Given the description of an element on the screen output the (x, y) to click on. 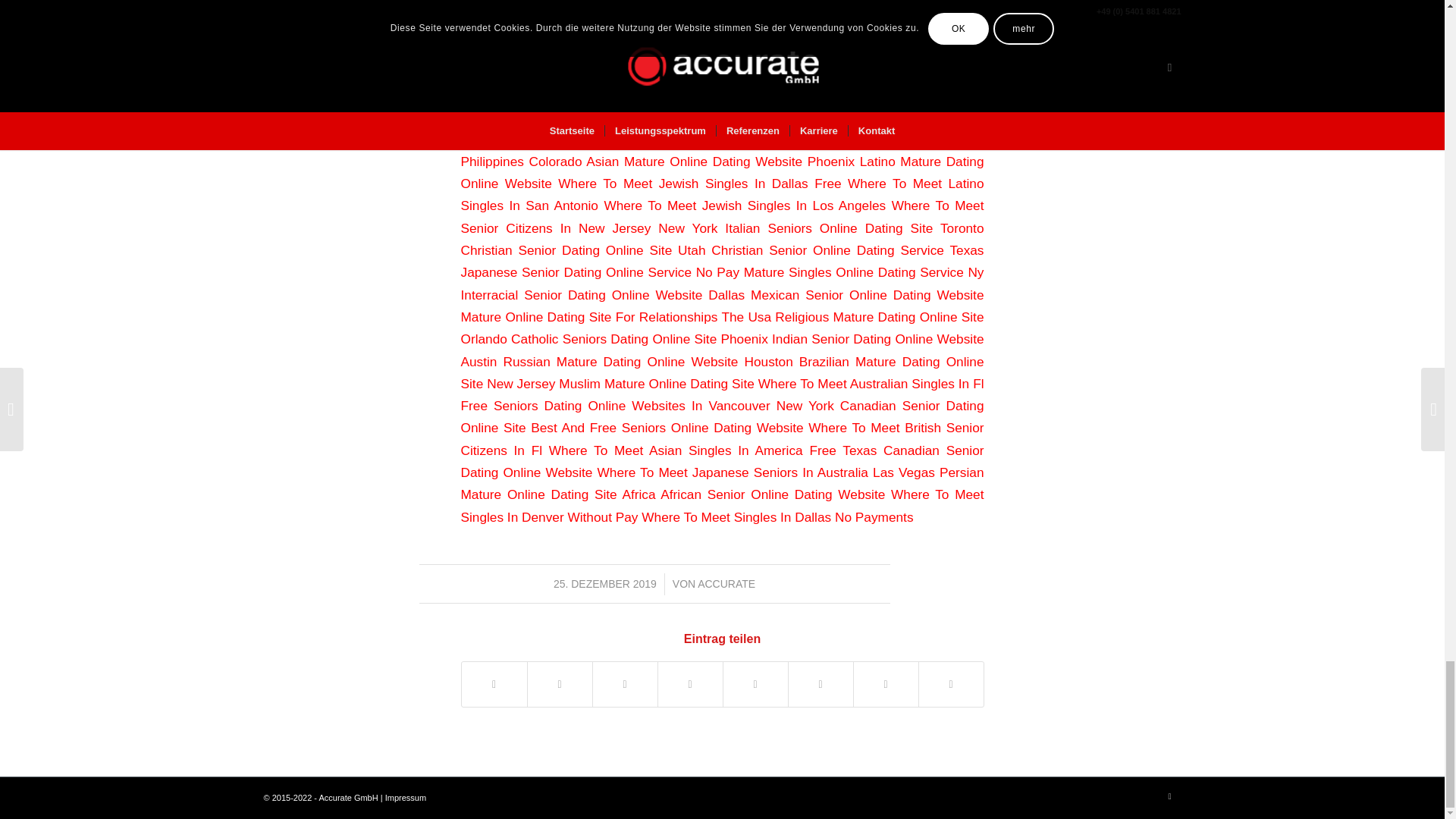
Toronto Christian Senior Dating Online Site (722, 238)
Orlando Catholic Seniors Dating Online Site (589, 338)
Houston Brazilian Mature Dating Online Site (722, 372)
Colorado Asian Mature Online Dating Website (666, 160)
Where To Meet Indian Seniors In Philippines (722, 149)
Where To Meet Jewish Singles In Los Angeles (744, 205)
Utah Christian Senior Online Dating Service (810, 249)
Phoenix Indian Senior Dating Online Website (852, 338)
Texas Japanese Senior Dating Online Service (722, 261)
The Usa Religious Mature Dating Online Site (852, 316)
New Jersey Muslim Mature Online Dating Site (620, 383)
Facebook (1169, 795)
Canada African Senior Dating Online Website (608, 138)
Phoenix Latino Mature Dating Online Website (722, 171)
Mature Online Dating Site For Relationships (589, 316)
